Given the description of an element on the screen output the (x, y) to click on. 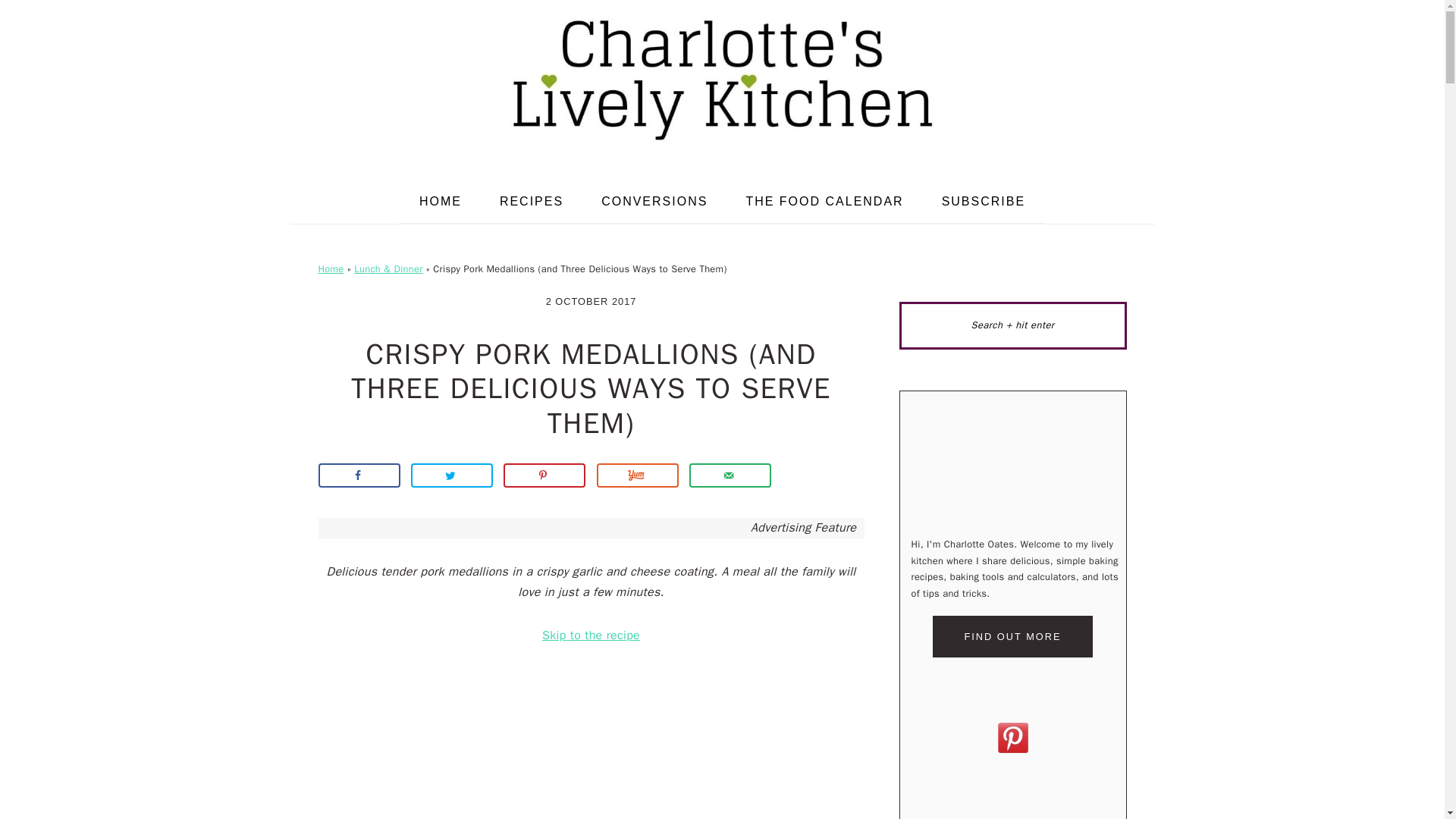
Charlotte's Lively Kitchen (721, 148)
Share on Twitter (451, 475)
Share on Facebook (359, 475)
Send over email (729, 475)
Charlotte's Lively Kitchen (721, 78)
HOME (440, 201)
Share on Yummly (637, 475)
THE FOOD CALENDAR (823, 201)
CONVERSIONS (654, 201)
